Given the description of an element on the screen output the (x, y) to click on. 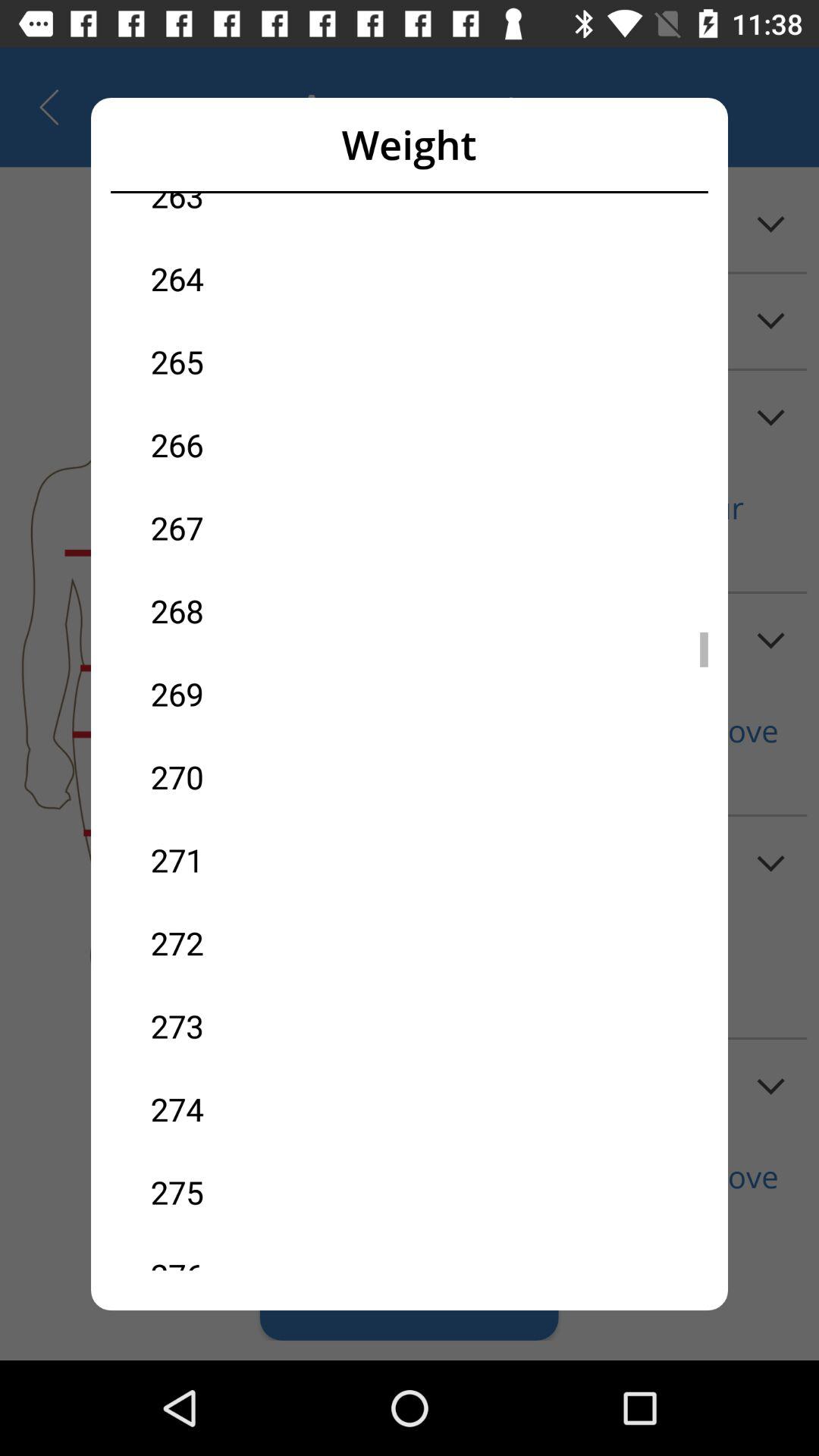
open item above the 275 icon (279, 1108)
